Given the description of an element on the screen output the (x, y) to click on. 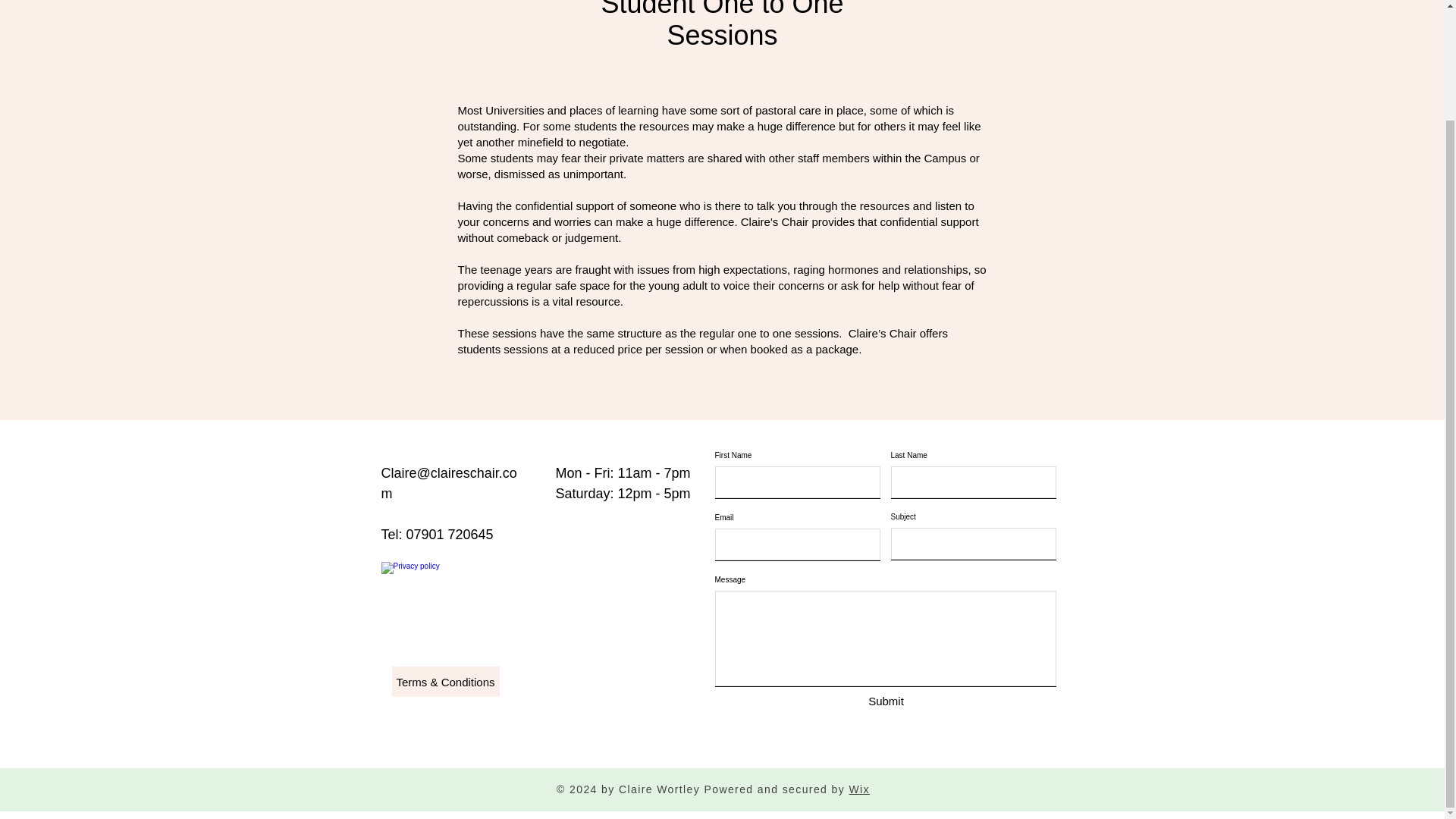
Wix (858, 788)
Submit (886, 701)
